Given the description of an element on the screen output the (x, y) to click on. 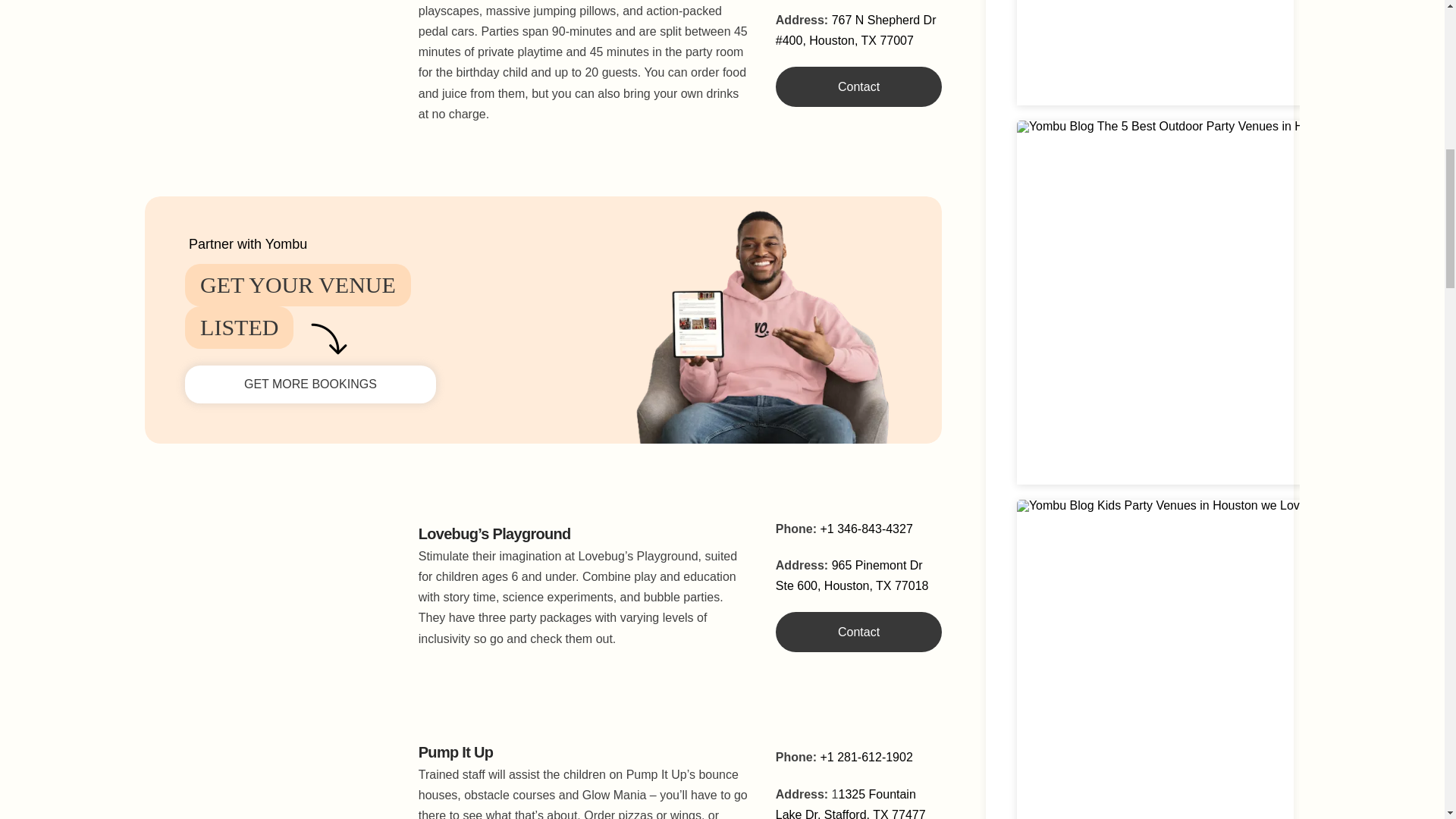
Contact (859, 86)
965 Pinemont Dr Ste 600, Houston, TX 77018 (852, 575)
Contact (859, 631)
GET MORE BOOKINGS (309, 384)
1325 Fountain Lake Dr, Stafford, TX 77477 (851, 803)
